Given the description of an element on the screen output the (x, y) to click on. 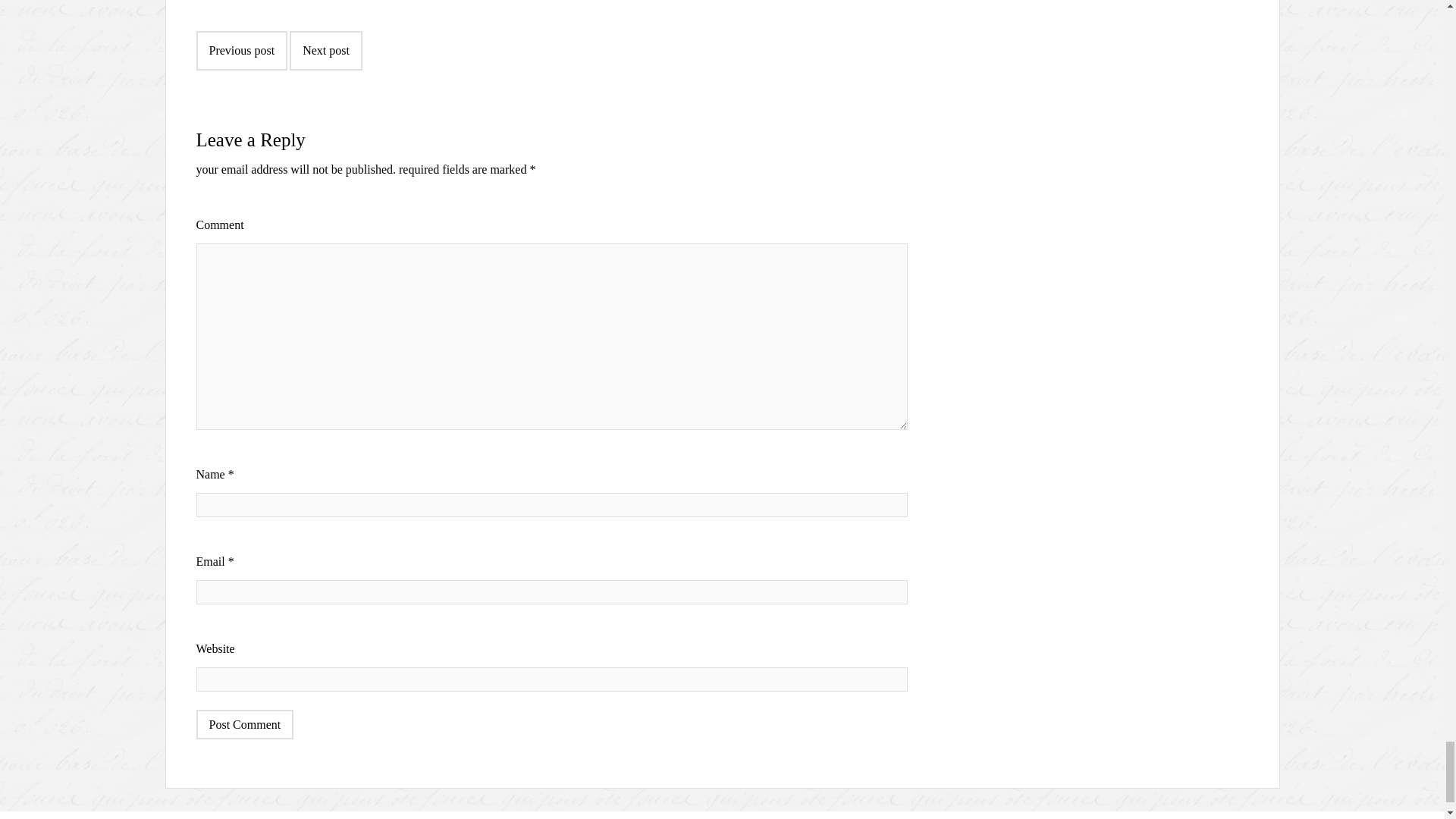
Post Comment (244, 724)
Previous post (240, 50)
